Given the description of an element on the screen output the (x, y) to click on. 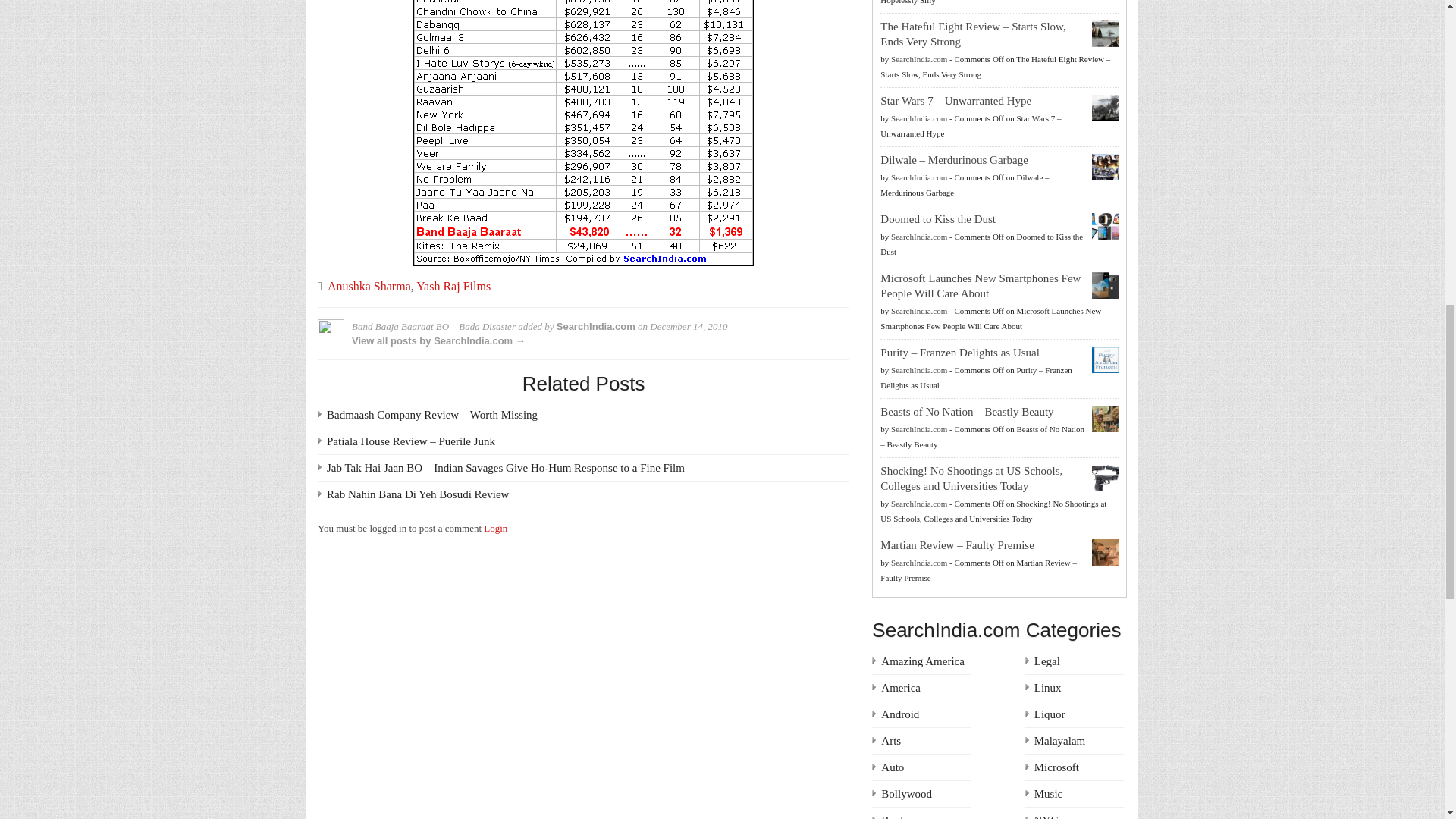
SearchIndia.com (595, 326)
Login (494, 527)
Rab Nahin Bana Di Yeh Bosudi Review (417, 494)
Anushka Sharma (368, 286)
Rab Nahin Bana Di Yeh Bosudi Review (417, 494)
Yash Raj Films (453, 286)
